Given the description of an element on the screen output the (x, y) to click on. 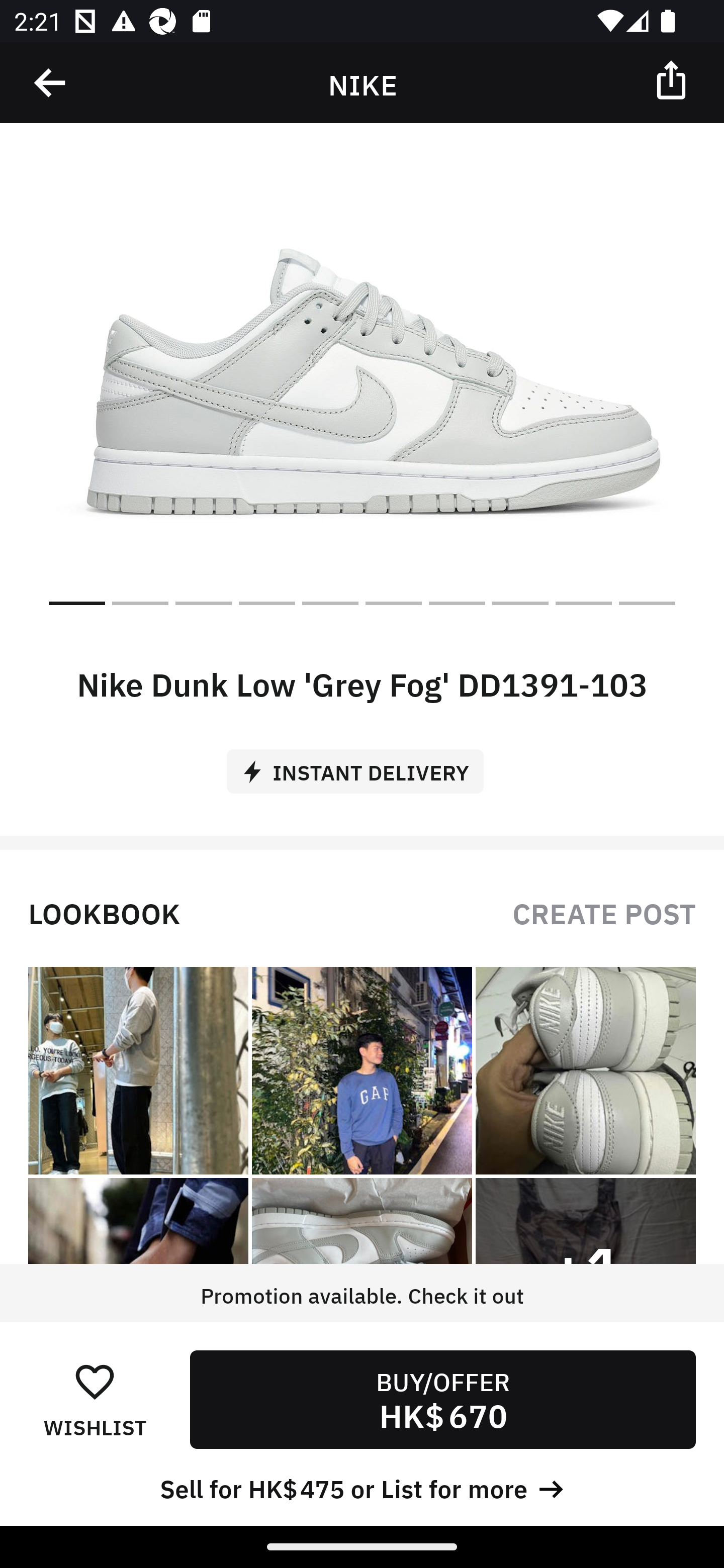
 (50, 83)
 (672, 79)
 INSTANT DELIVERY (362, 764)
CREATE POST (603, 911)
BUY/OFFER HK$ 670 (442, 1399)
󰋕 (94, 1380)
Sell for HK$ 475 or List for more (361, 1486)
